Given the description of an element on the screen output the (x, y) to click on. 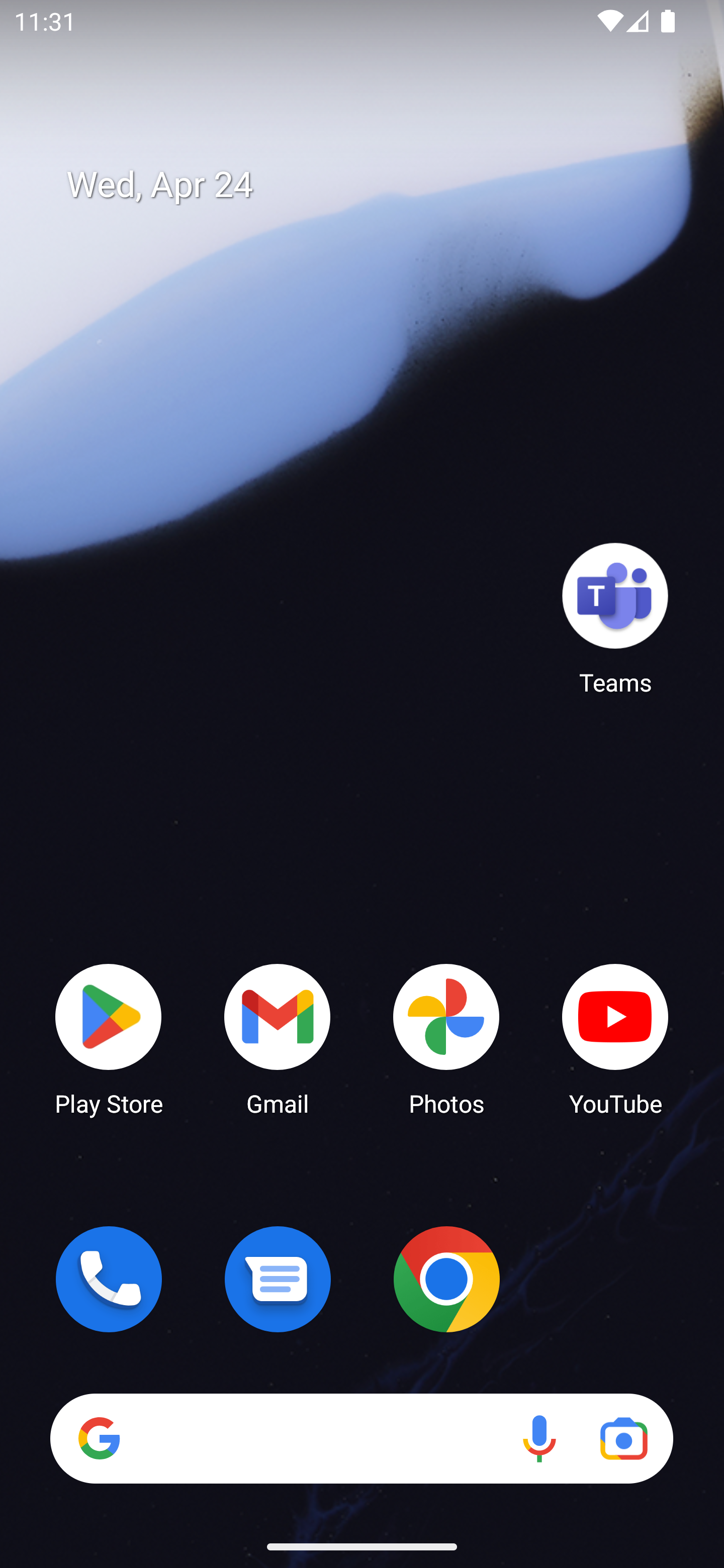
Wed, Apr 24 (375, 184)
Teams (615, 617)
Play Store (108, 1038)
Gmail (277, 1038)
Photos (445, 1038)
YouTube (615, 1038)
Phone (108, 1279)
Messages (277, 1279)
Chrome (446, 1279)
Search Voice search Google Lens (361, 1438)
Voice search (539, 1438)
Google Lens (623, 1438)
